Given the description of an element on the screen output the (x, y) to click on. 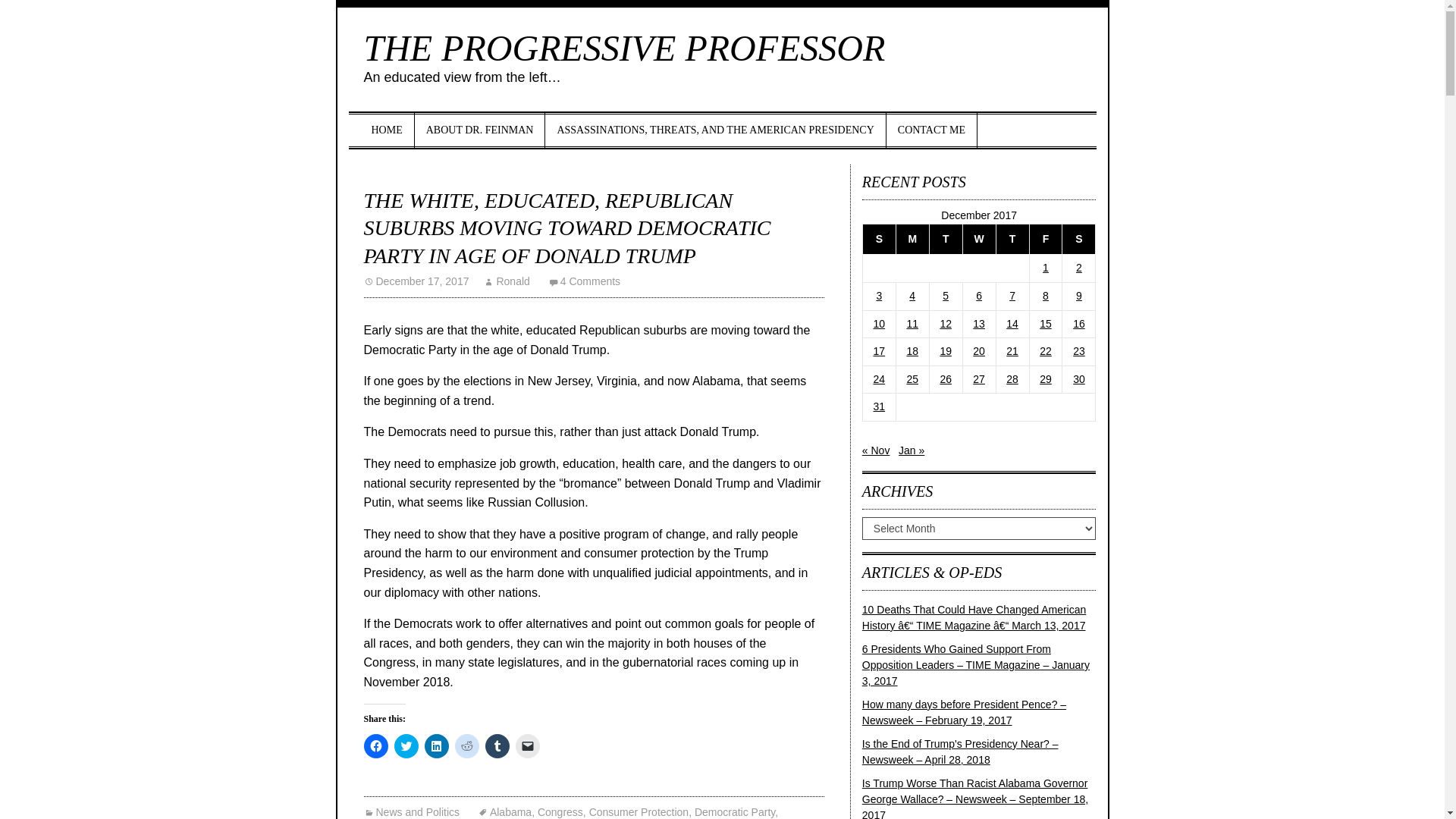
Click to share on Tumblr (496, 745)
Home (386, 130)
News and Politics (412, 811)
Assassinations, Threats, and the American Presidency (714, 130)
4:06 pm (416, 281)
ABOUT DR. FEINMAN (480, 130)
View all posts by Ronald (506, 281)
Click to share on Facebook (376, 745)
Click to share on Reddit (466, 745)
Click to share on Twitter (406, 745)
